Given the description of an element on the screen output the (x, y) to click on. 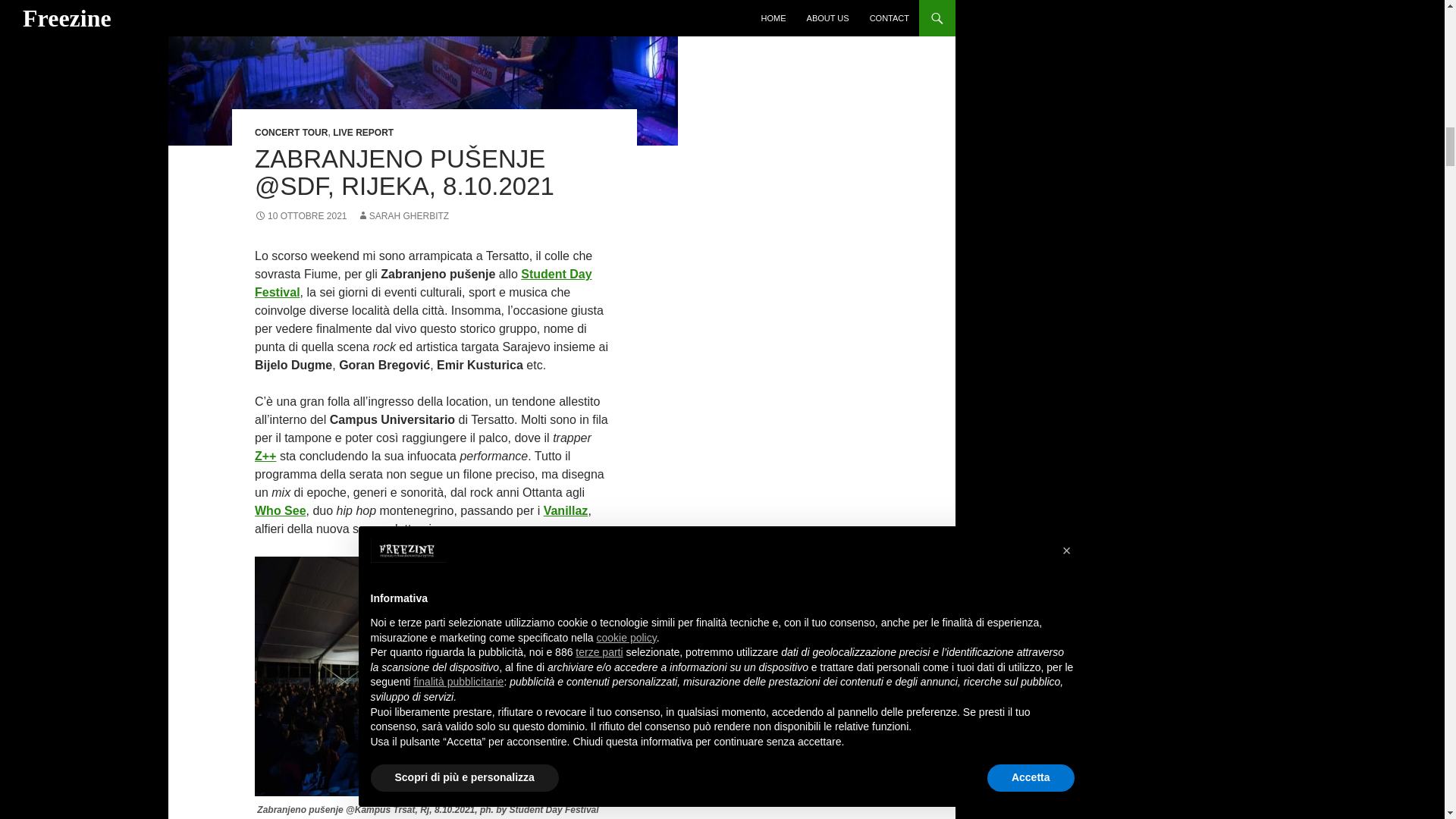
SARAH GHERBITZ (402, 215)
CONCERT TOUR (290, 132)
Vanillaz (565, 510)
LIVE REPORT (363, 132)
10 OTTOBRE 2021 (300, 215)
Who See (279, 510)
Student Day Festival (423, 282)
